Given the description of an element on the screen output the (x, y) to click on. 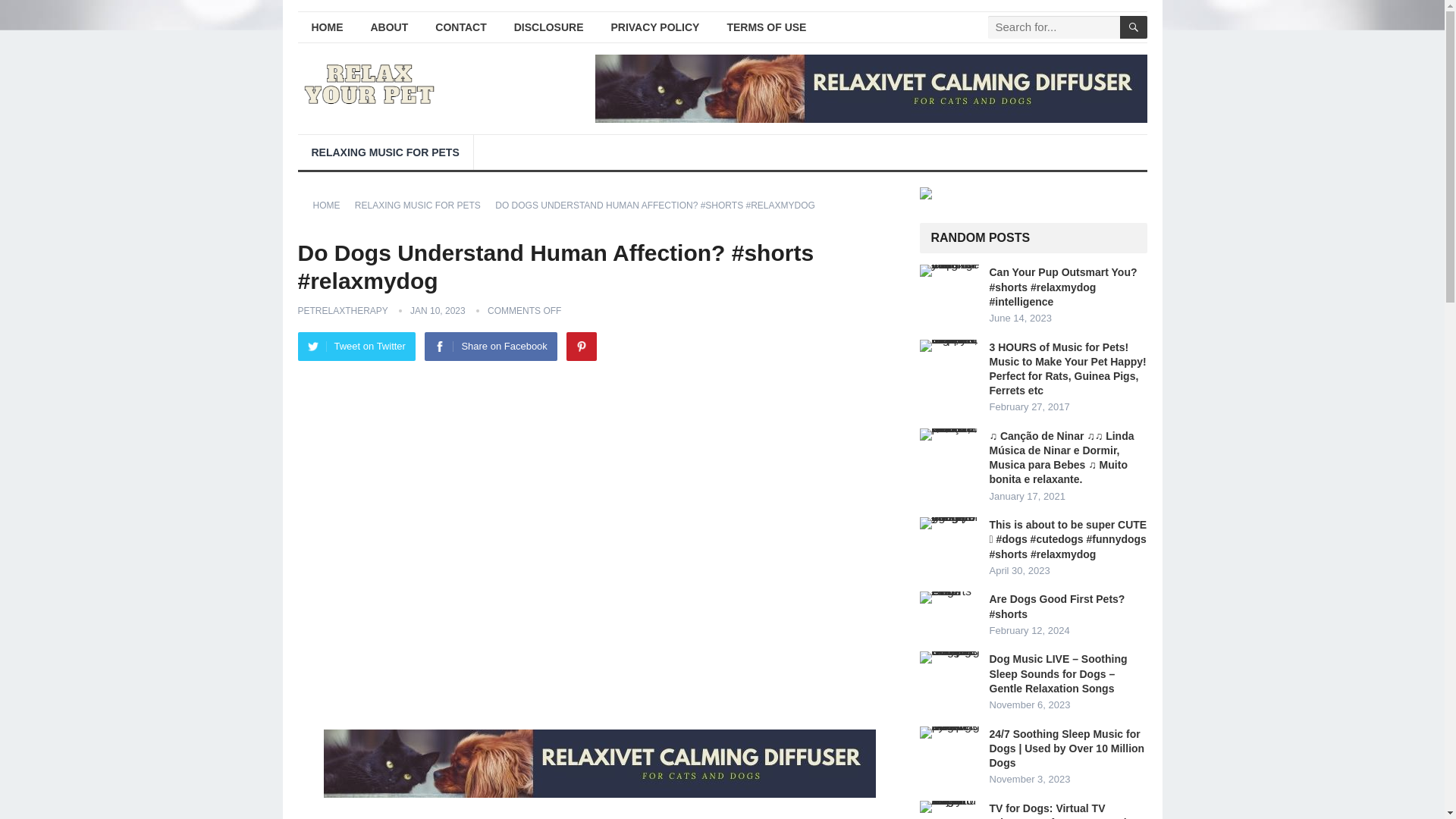
Share on Facebook (490, 346)
RELAXING MUSIC FOR PETS (423, 204)
PRIVACY POLICY (654, 27)
TERMS OF USE (766, 27)
DISCLOSURE (548, 27)
View all posts in Relaxing Music For Pets (423, 204)
ABOUT (389, 27)
HOME (331, 204)
Pinterest (581, 346)
Posts by petrelaxtherapy (342, 310)
HOME (326, 27)
PETRELAXTHERAPY (342, 310)
Tweet on Twitter (355, 346)
